Given the description of an element on the screen output the (x, y) to click on. 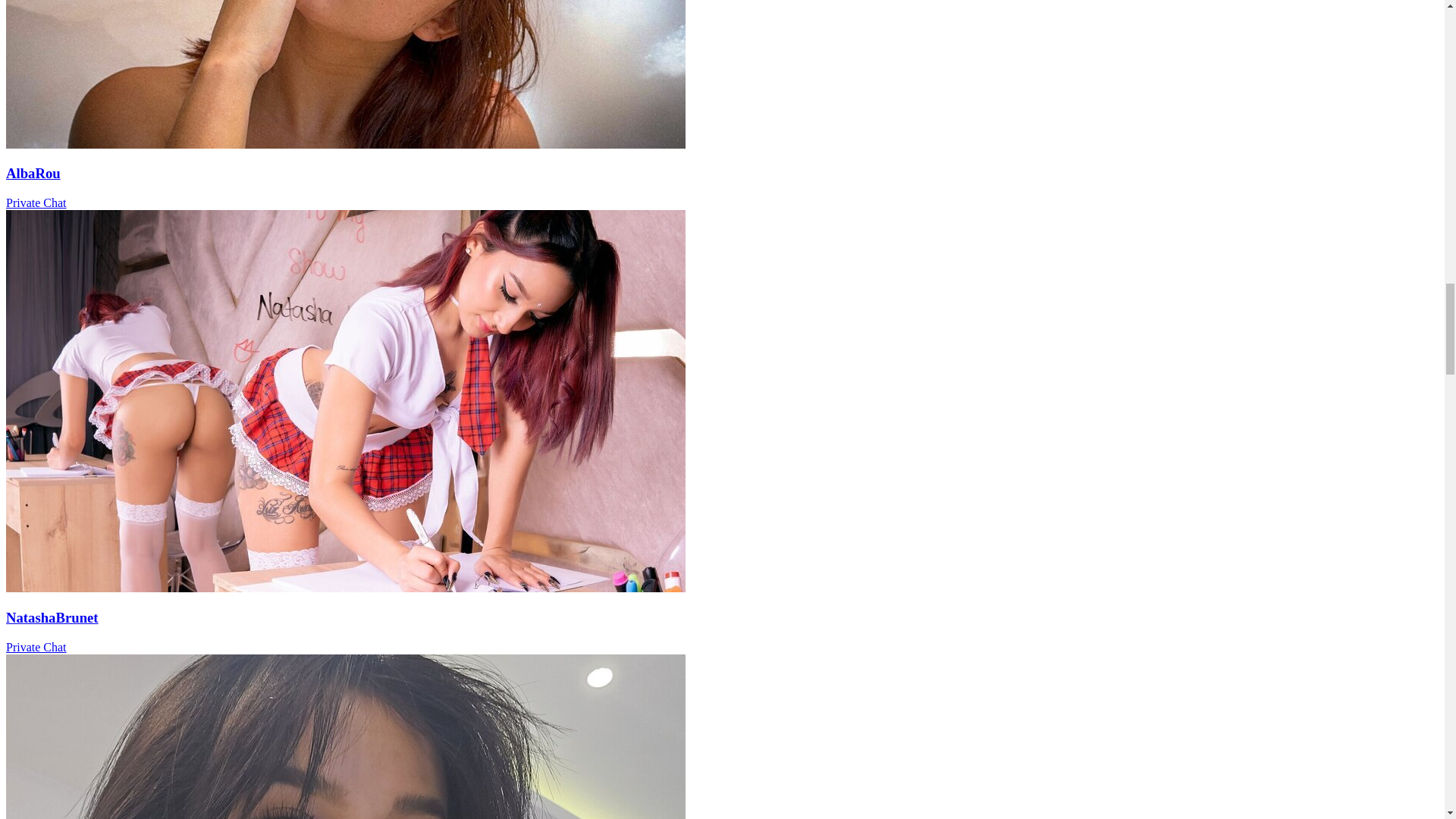
NatashaBrunet's (345, 587)
AlbaRou's (345, 144)
